Given the description of an element on the screen output the (x, y) to click on. 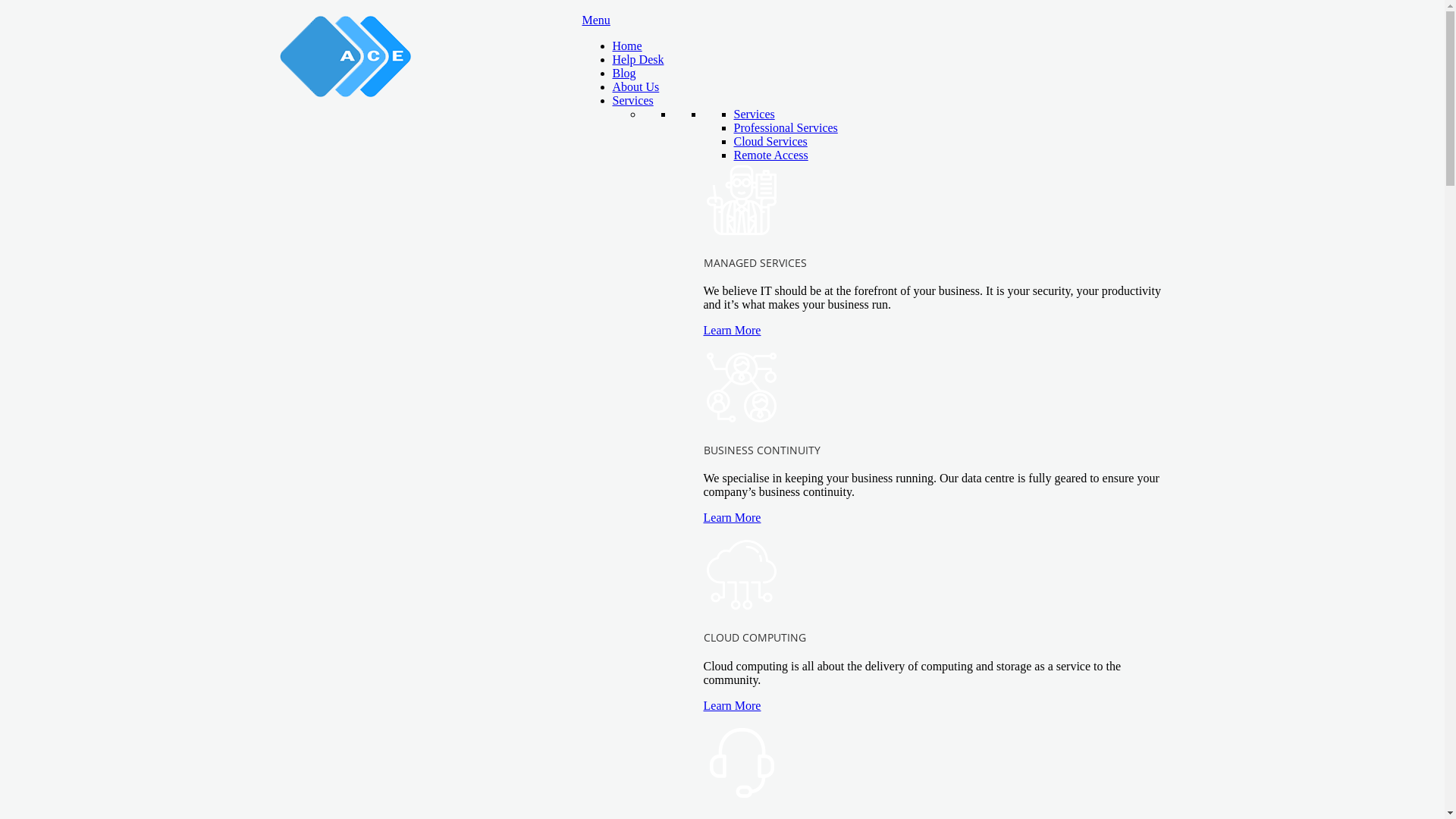
Blog Element type: text (624, 72)
Menu Element type: text (596, 19)
Remote Access Element type: text (771, 154)
Help Desk Element type: text (638, 59)
Professional Services Element type: text (785, 127)
Services Element type: text (754, 113)
Home Element type: text (627, 45)
Learn More Element type: text (732, 517)
Services Element type: text (632, 100)
Learn More Element type: text (732, 705)
Embracing Everything I.T. Element type: hover (345, 55)
Cloud Services Element type: text (770, 140)
Learn More Element type: text (732, 329)
About Us Element type: text (635, 86)
